Given the description of an element on the screen output the (x, y) to click on. 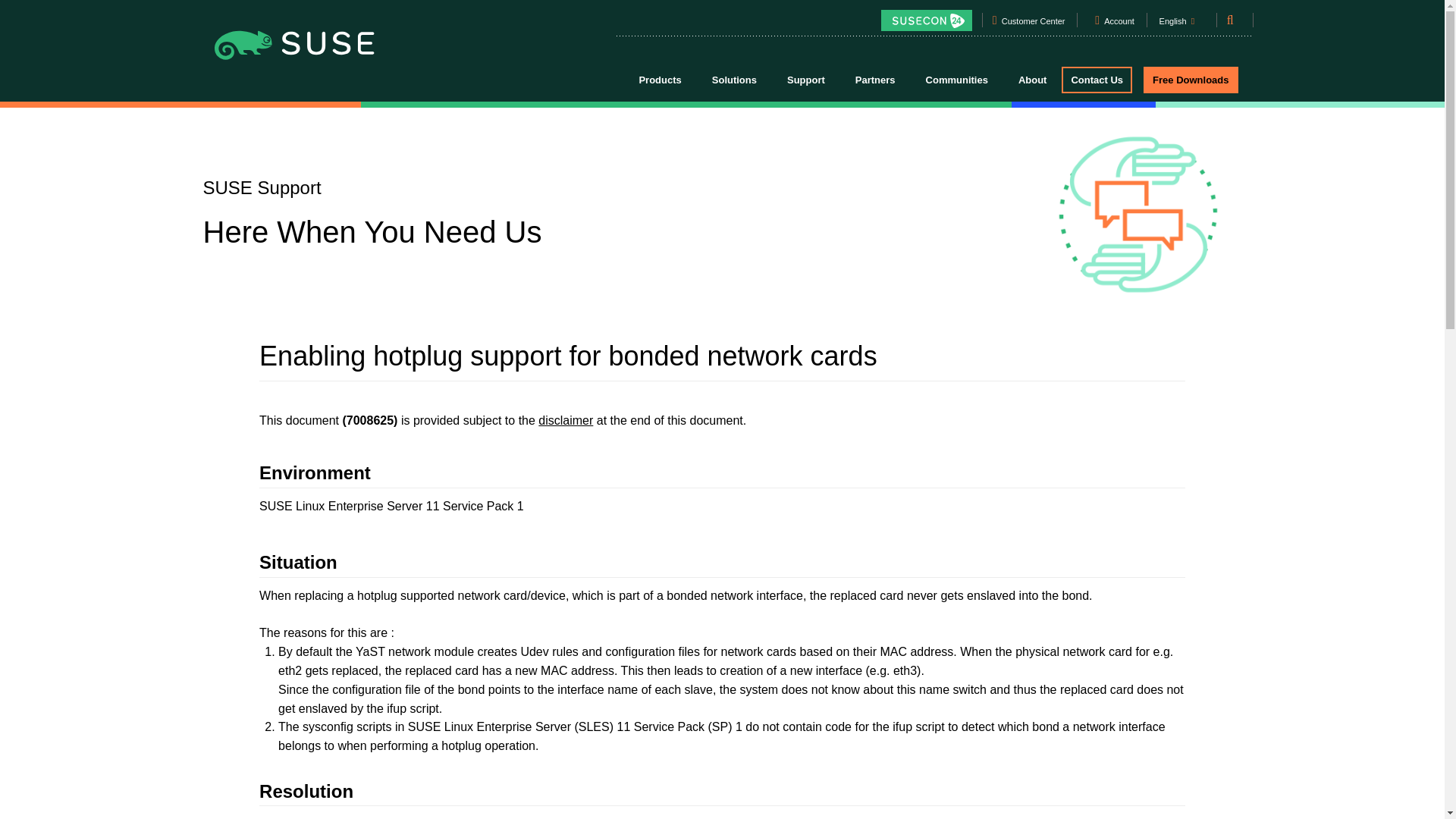
Contact Us (1096, 79)
Partners (875, 79)
Products (659, 79)
Support (805, 79)
Customer Center (1032, 23)
About (1032, 79)
Communities (957, 79)
Free Downloads (1189, 79)
Solutions (734, 79)
Account (1119, 23)
